Given the description of an element on the screen output the (x, y) to click on. 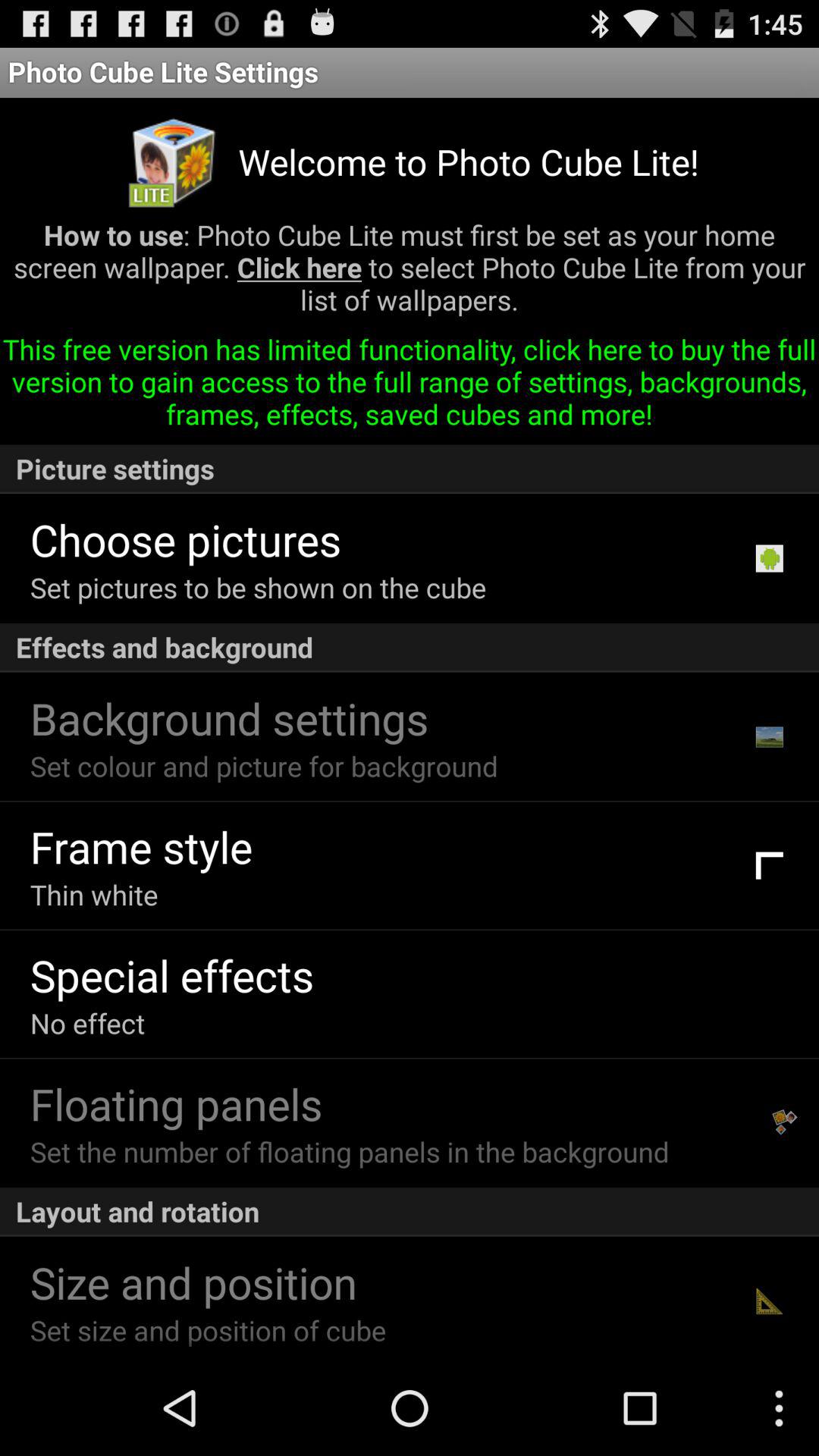
open app below the thin white item (171, 974)
